Given the description of an element on the screen output the (x, y) to click on. 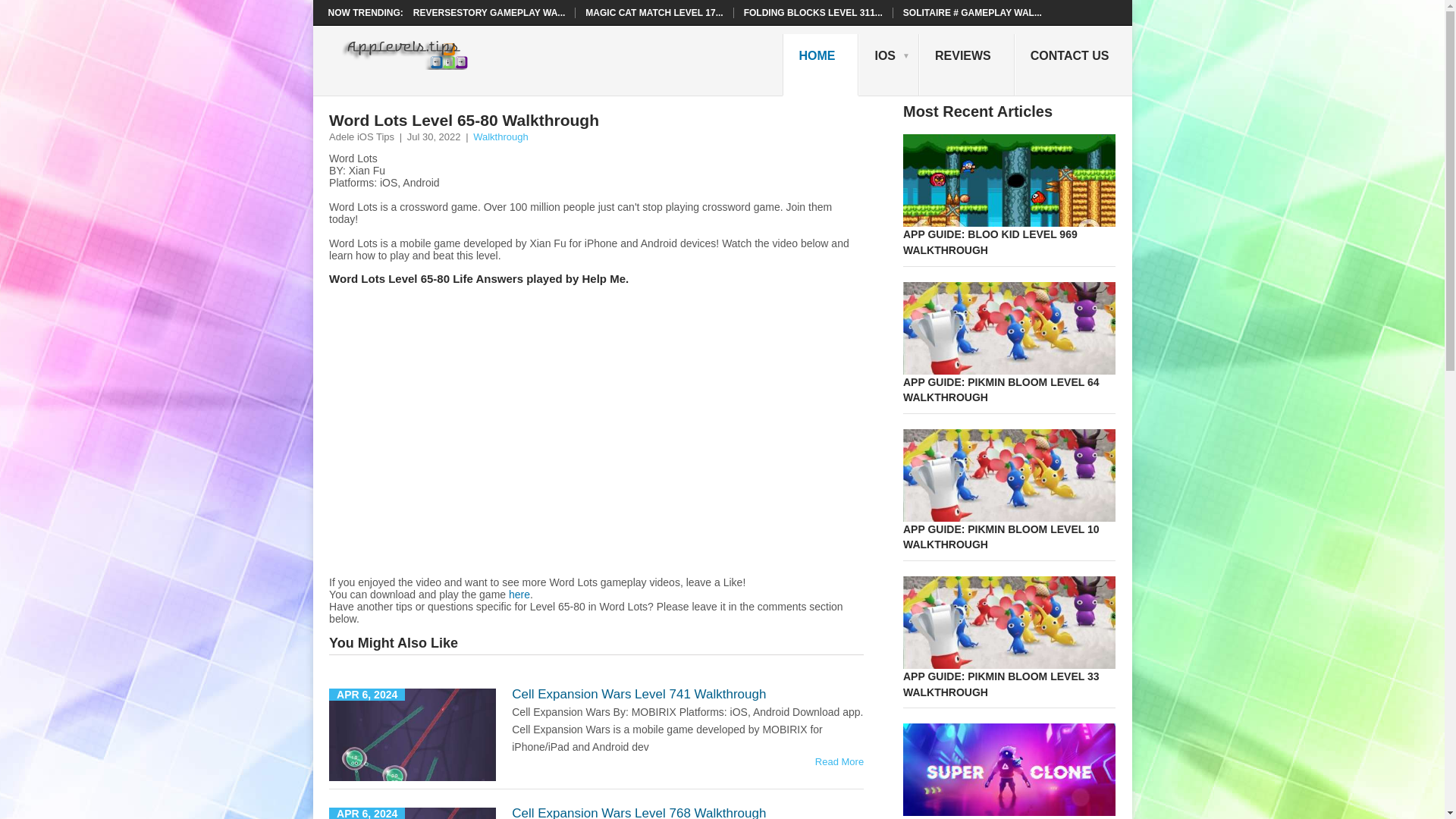
APR 6, 2024 (412, 734)
ReversEstory Gameplay Walkthrough (638, 812)
Folding Blocks Level 311 Walkthrough (813, 12)
Magic Cat Match Level 17 Walkthrough (653, 12)
Cell Expansion Wars Level 768 Walkthrough (638, 812)
HOME (821, 65)
Cell Expansion Wars Level 741 Walkthrough (839, 761)
Walkthrough (500, 136)
REVERSESTORY GAMEPLAY WA... (489, 12)
REVIEWS (966, 65)
MAGIC CAT MATCH LEVEL 17... (653, 12)
cell-expansion-wars-level-741-walkthrough (412, 734)
IOS (888, 65)
Cell Expansion Wars Level 741 Walkthrough (638, 694)
